Given the description of an element on the screen output the (x, y) to click on. 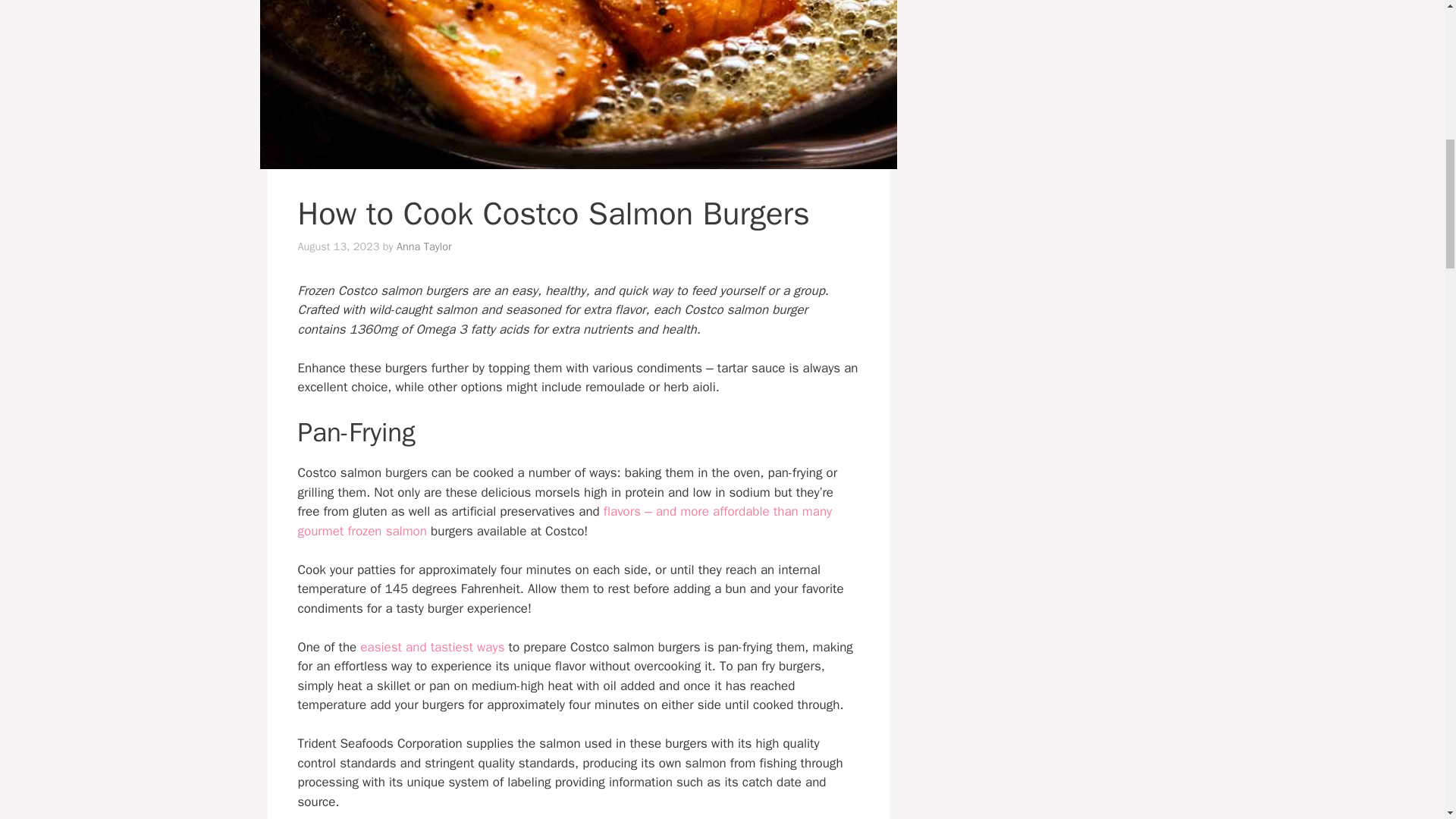
Anna Taylor (423, 246)
View all posts by Anna Taylor (423, 246)
easiest and tastiest ways (431, 647)
